Given the description of an element on the screen output the (x, y) to click on. 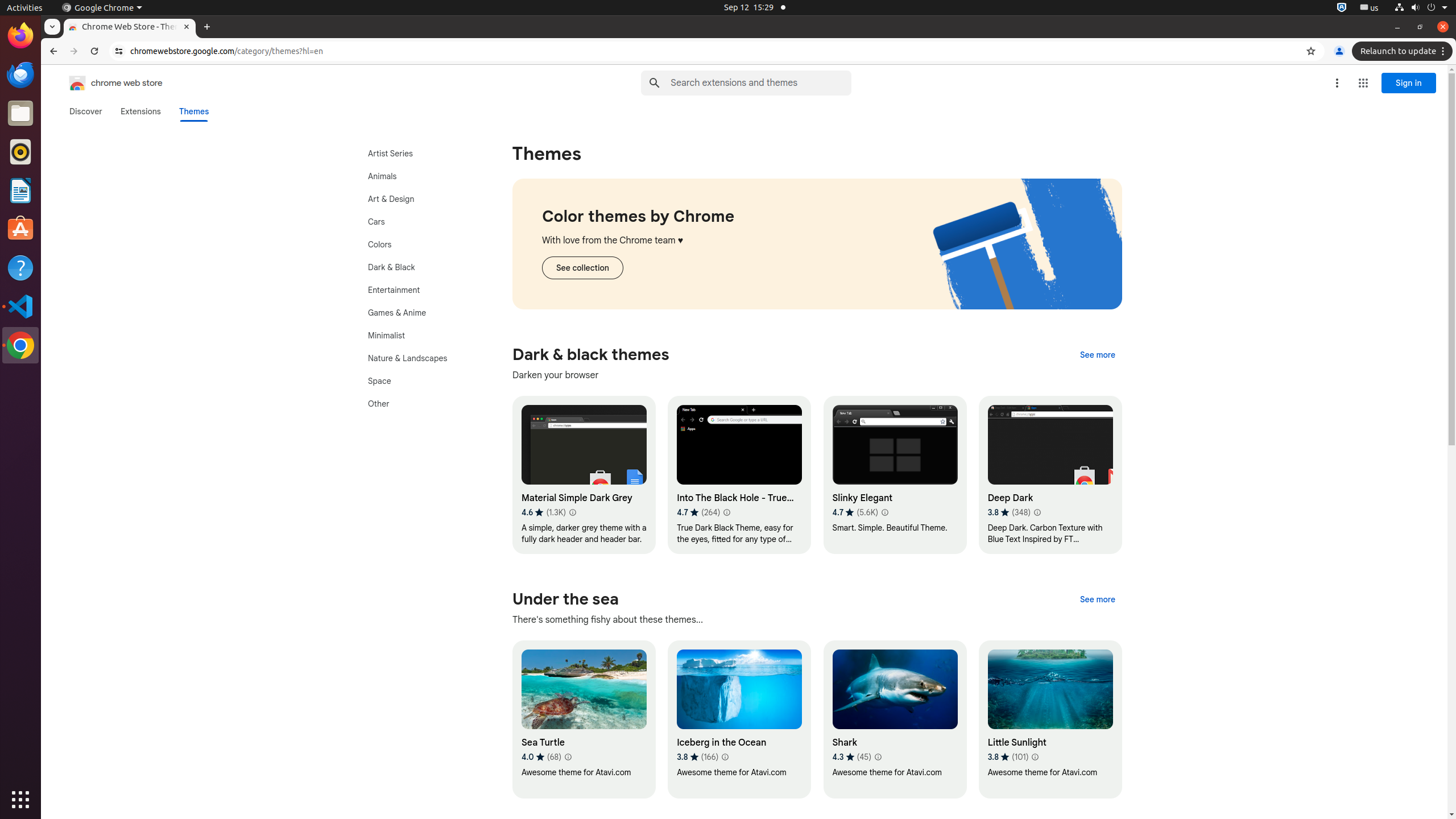
System Element type: menu (1420, 7)
Learn more about results and reviews "Shark" Element type: push-button (877, 756)
Relaunch to update Element type: push-button (1403, 50)
View site information Element type: push-button (118, 51)
Art & Design Element type: menu-item (419, 198)
